Given the description of an element on the screen output the (x, y) to click on. 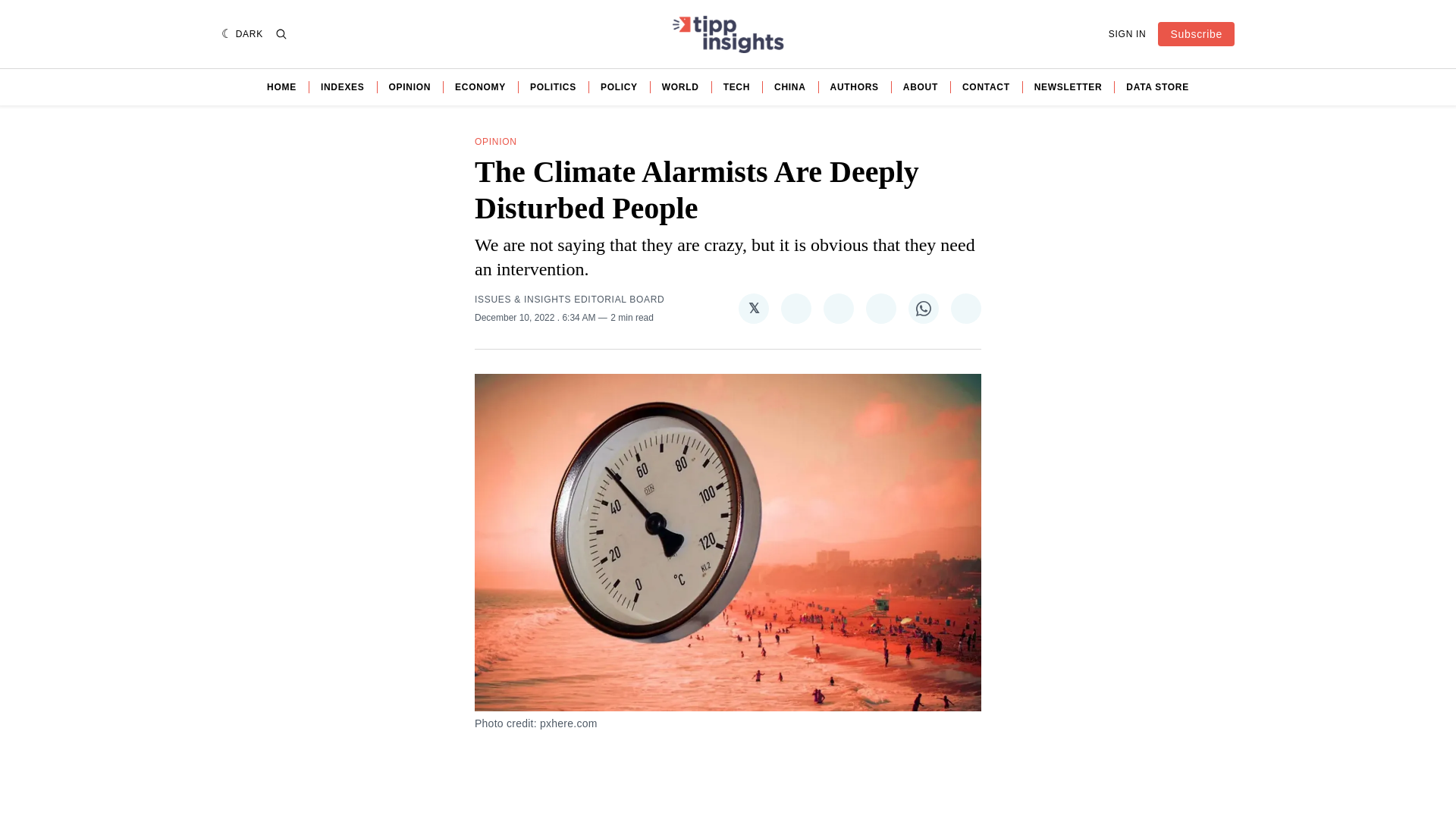
Share on Facebook (795, 308)
CONTACT (986, 87)
POLITICS (552, 87)
SIGN IN (1127, 33)
ABOUT (919, 87)
OPINION (409, 87)
WORLD (680, 87)
TECH (736, 87)
DARK (242, 33)
Share on Pinterest (838, 308)
INDEXES (342, 87)
AUTHORS (854, 87)
NEWSLETTER (1067, 87)
CHINA (790, 87)
OPINION (495, 141)
